Given the description of an element on the screen output the (x, y) to click on. 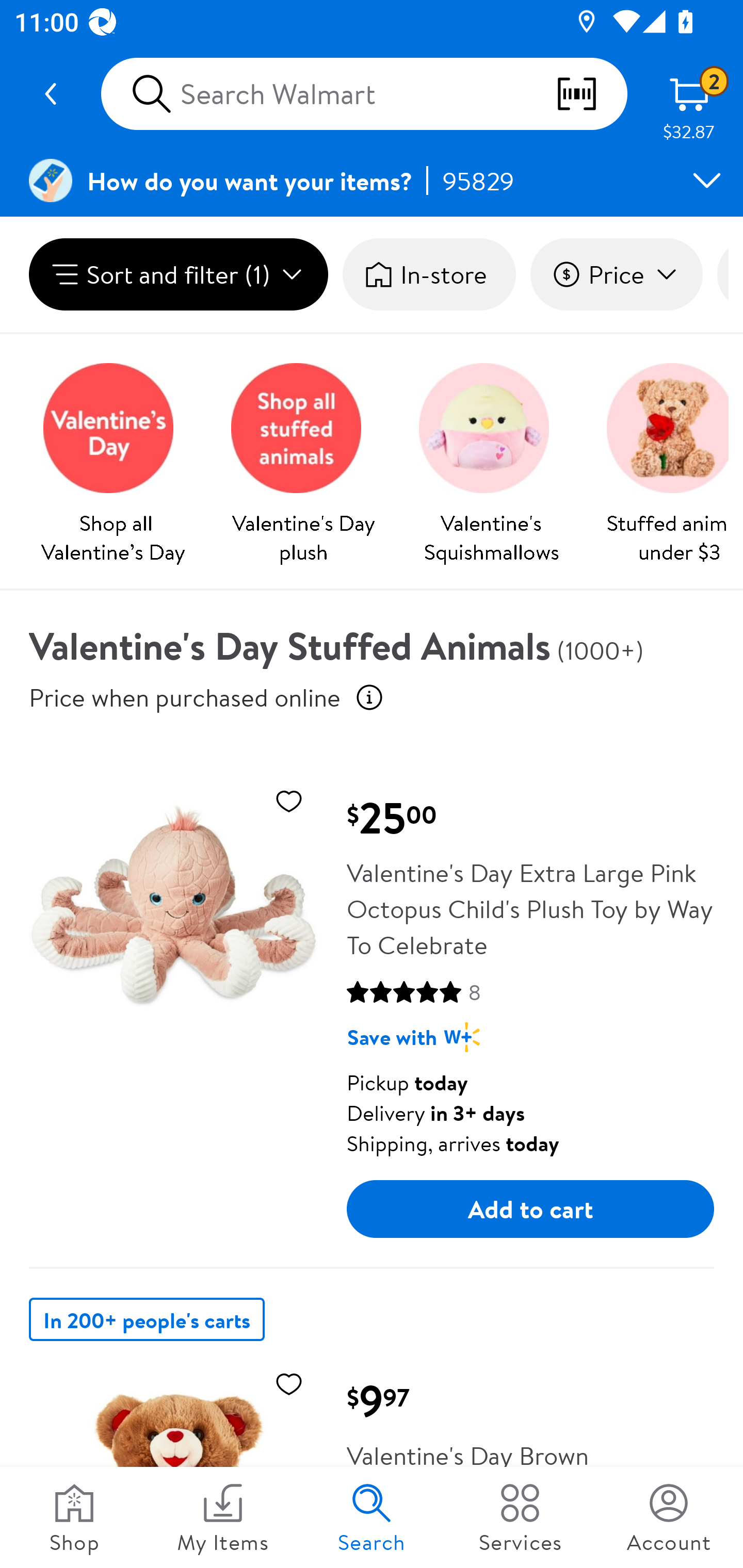
Navigate up (50, 93)
Search Walmart scan barcodes qr codes and more (364, 94)
scan barcodes qr codes and more (591, 94)
Price when purchased online (184, 696)
Price when purchased online (369, 697)
Add to cart (530, 1208)
Shop (74, 1517)
My Items (222, 1517)
Services (519, 1517)
Account (668, 1517)
